Given the description of an element on the screen output the (x, y) to click on. 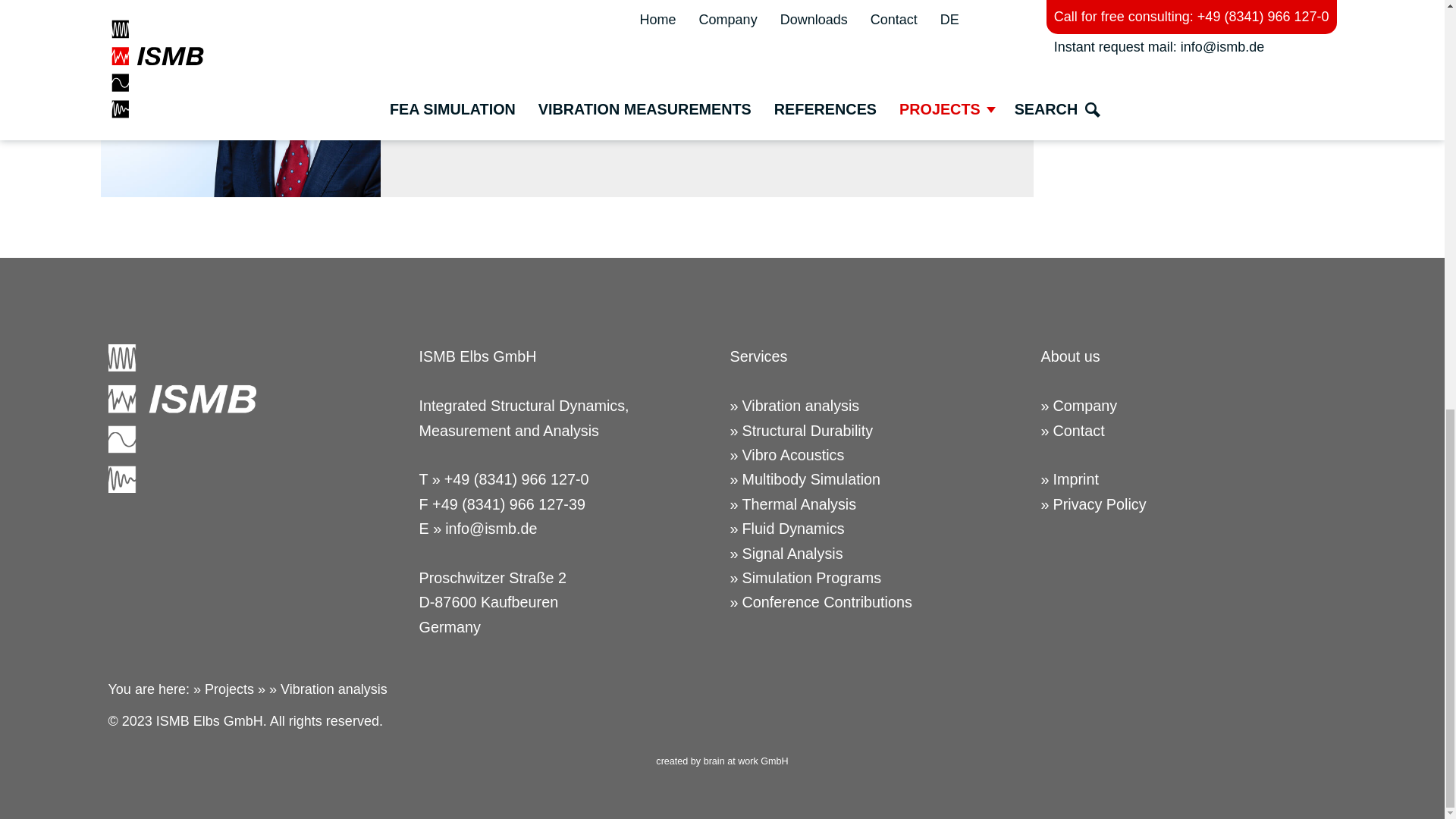
Vibration analysis (877, 405)
Multibody Simulation (877, 478)
Vibro Acoustics (877, 454)
Structural Durability (877, 430)
